Given the description of an element on the screen output the (x, y) to click on. 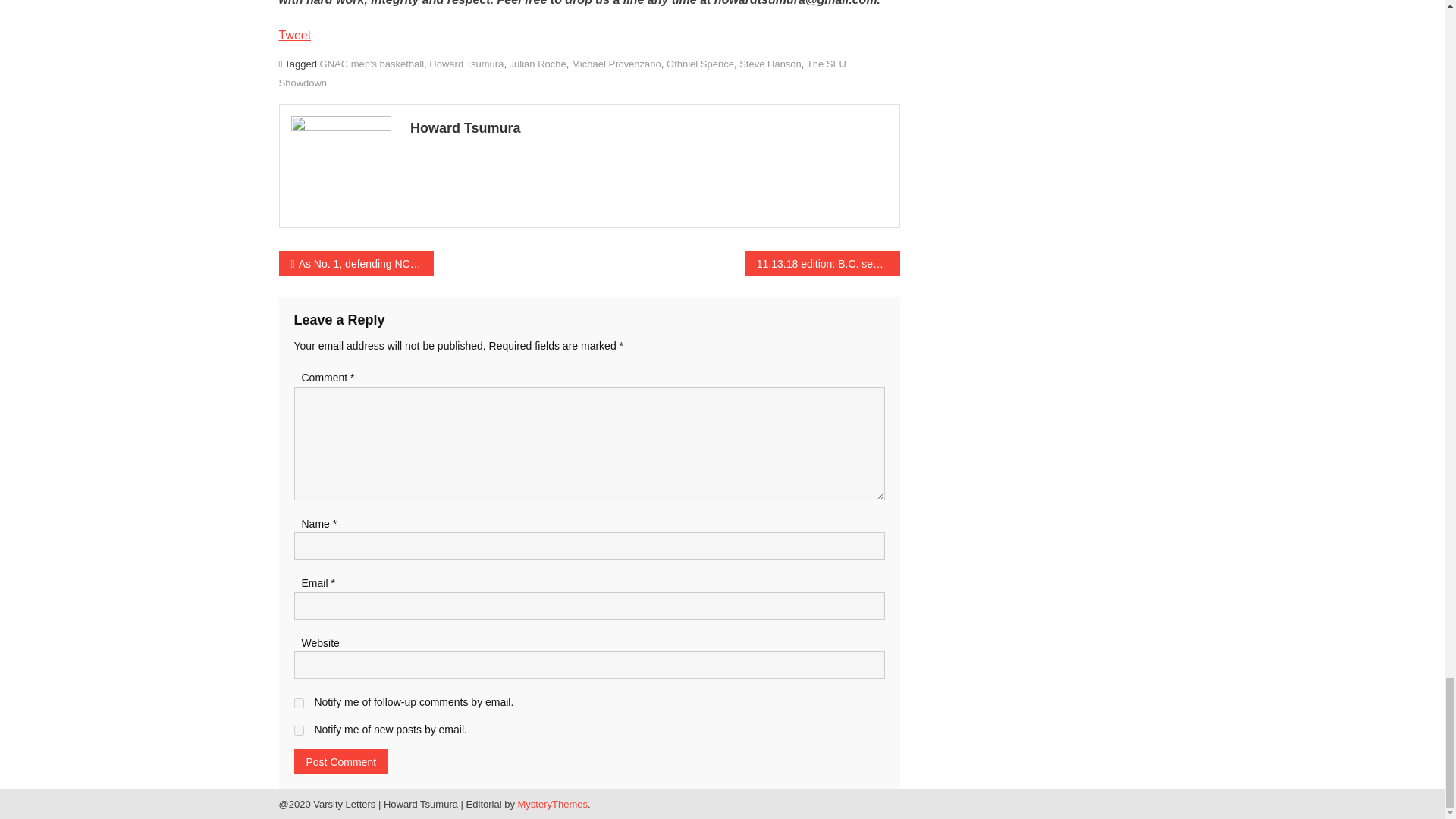
Post Comment (341, 761)
subscribe (299, 703)
subscribe (299, 730)
